Given the description of an element on the screen output the (x, y) to click on. 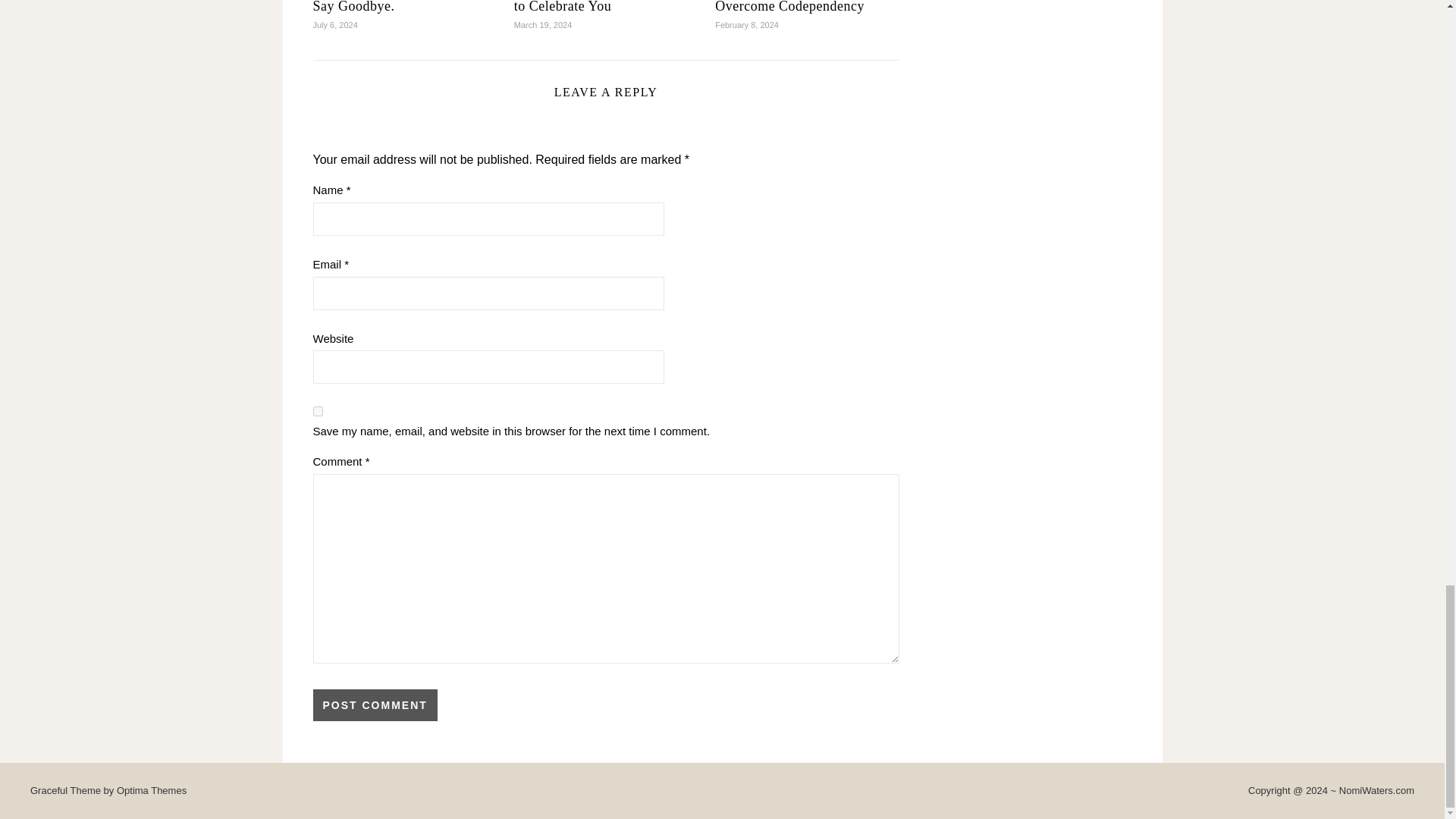
Post Comment (374, 705)
Embrace Yourself: Five Ways to Celebrate You  (600, 6)
Breaking Free: Strategies to Overcome Codependency  (795, 6)
yes (317, 411)
Post Comment (374, 705)
